Given the description of an element on the screen output the (x, y) to click on. 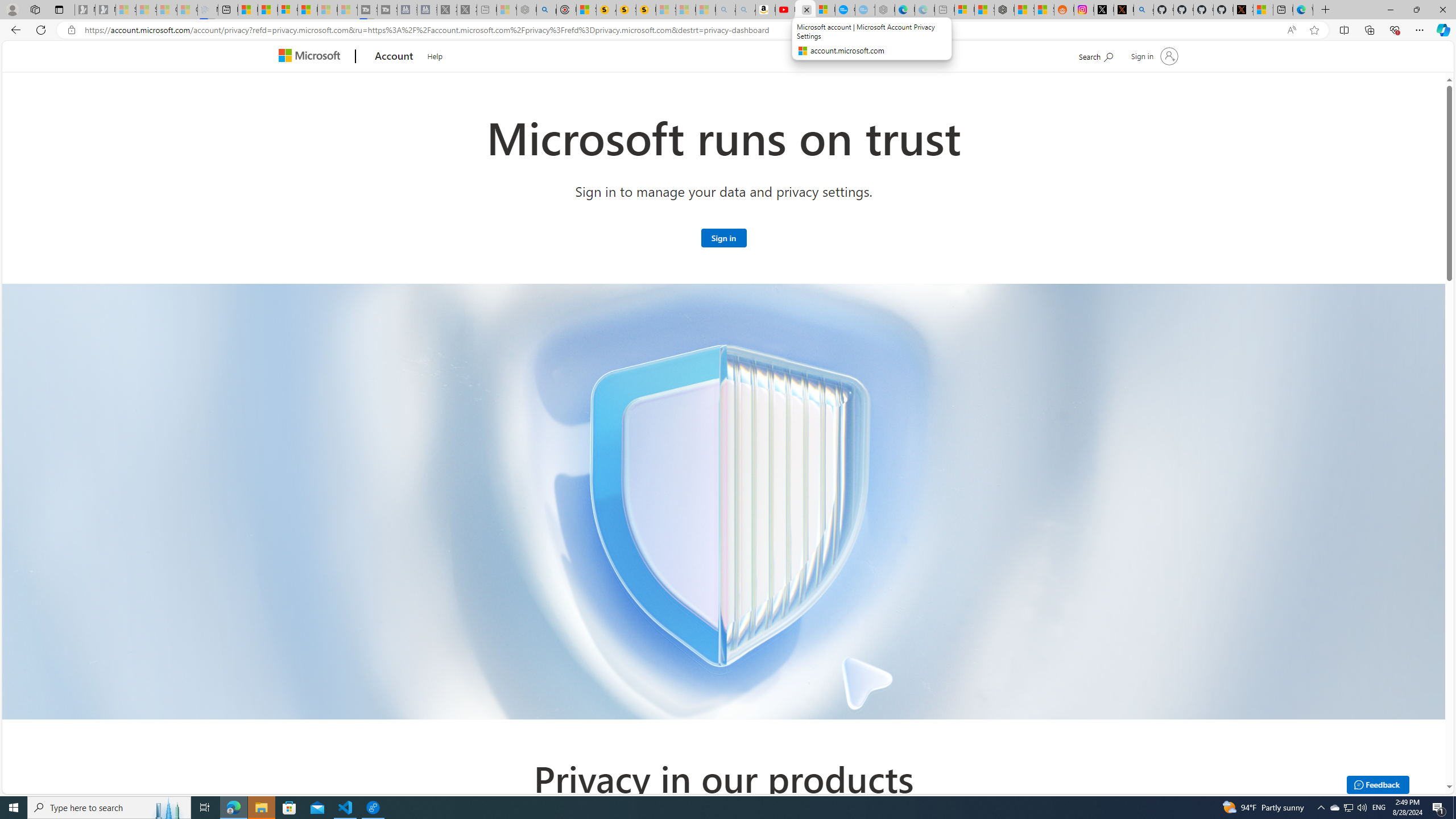
X - Sleeping (466, 9)
Microsoft (311, 56)
Shanghai, China Weather trends | Microsoft Weather (1043, 9)
Microsoft account | Microsoft Account Privacy Settings (964, 9)
Sign in to your Microsoft account (723, 237)
Wildlife - MSN - Sleeping (506, 9)
Day 1: Arriving in Yemen (surreal to be here) - YouTube (785, 9)
Log in to X / X (1103, 9)
help.x.com | 524: A timeout occurred (1123, 9)
